Given the description of an element on the screen output the (x, y) to click on. 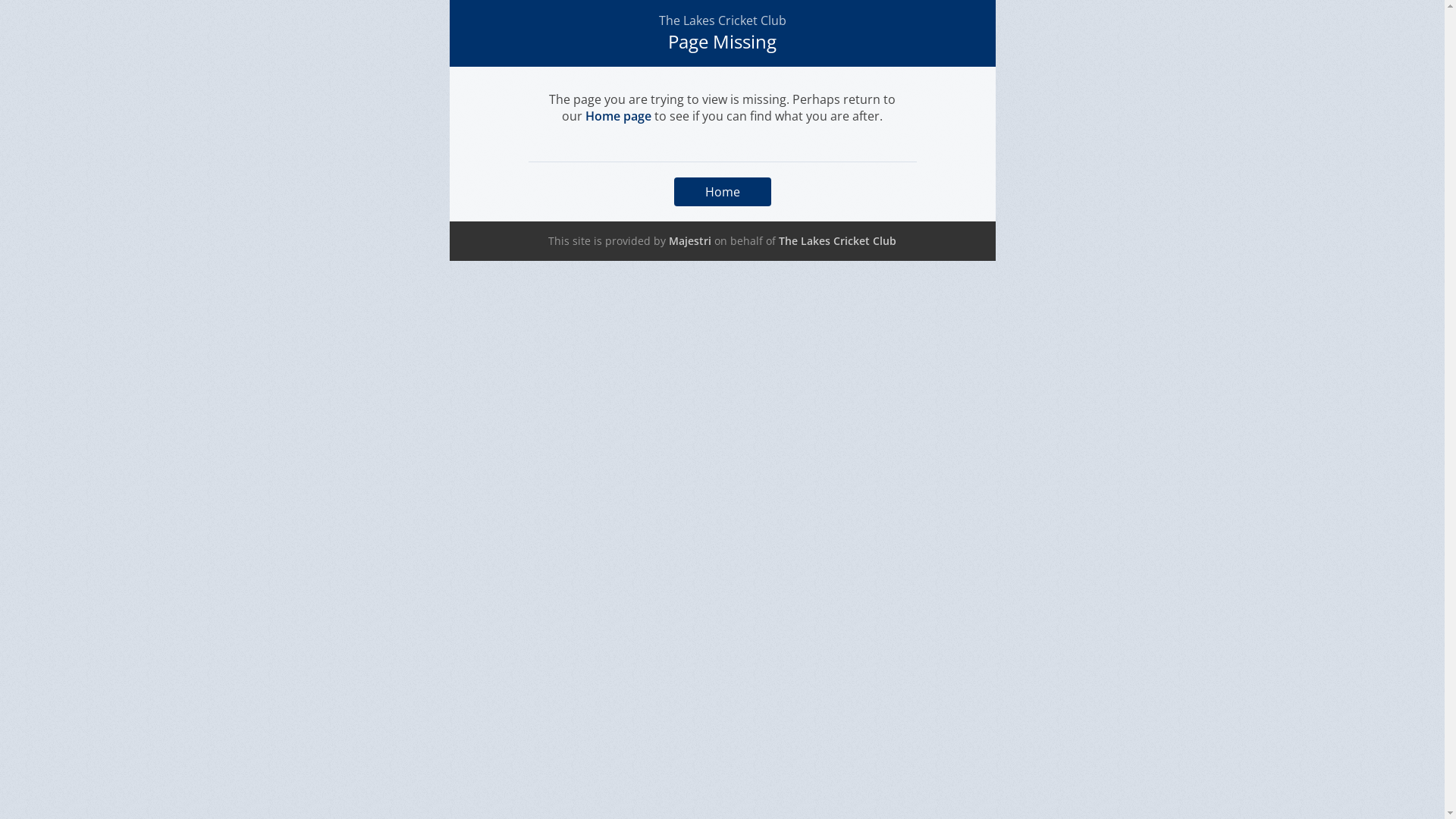
Home page Element type: text (618, 115)
Home Element type: text (721, 191)
The Lakes Cricket Club Element type: text (837, 240)
Majestri Element type: text (689, 240)
